Given the description of an element on the screen output the (x, y) to click on. 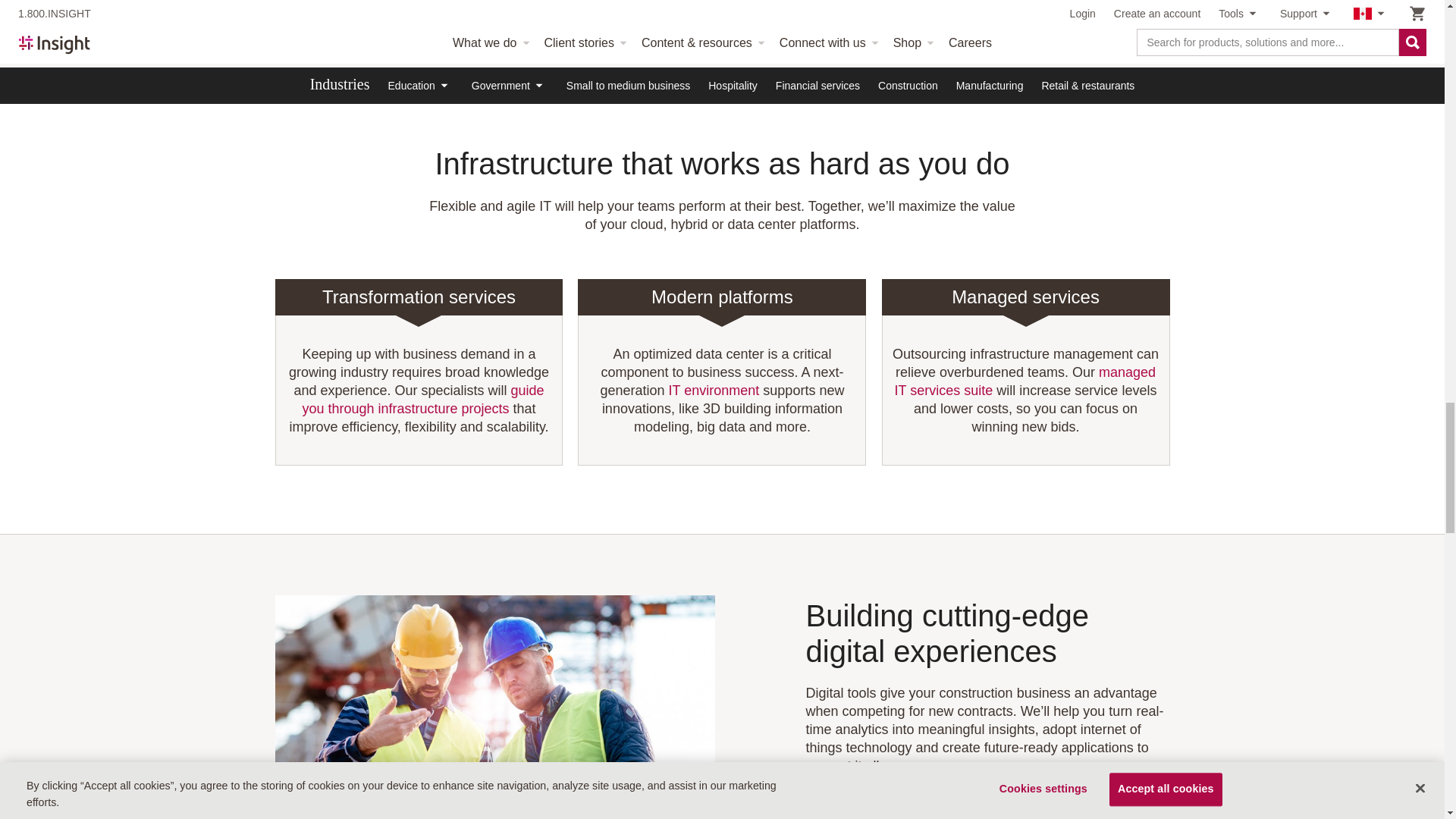
Turn ideas into positive business outcomes (494, 707)
